Given the description of an element on the screen output the (x, y) to click on. 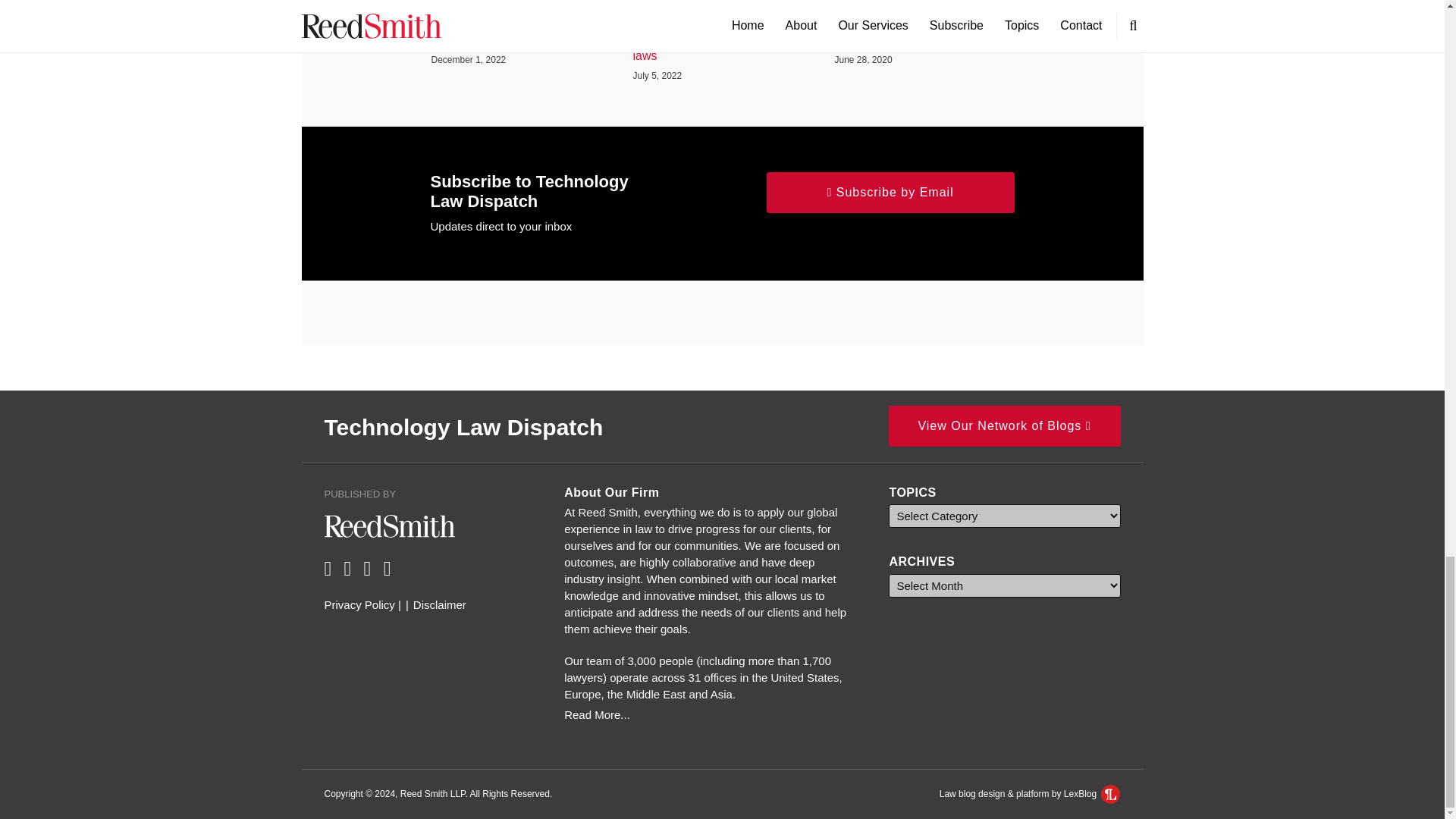
Technology Law Dispatch (464, 426)
LexBlog Logo (1109, 793)
View Our Network of Blogs (1004, 425)
UK Government grants South Korea a data adequacy status (520, 33)
Subscribe by Email (890, 191)
